Given the description of an element on the screen output the (x, y) to click on. 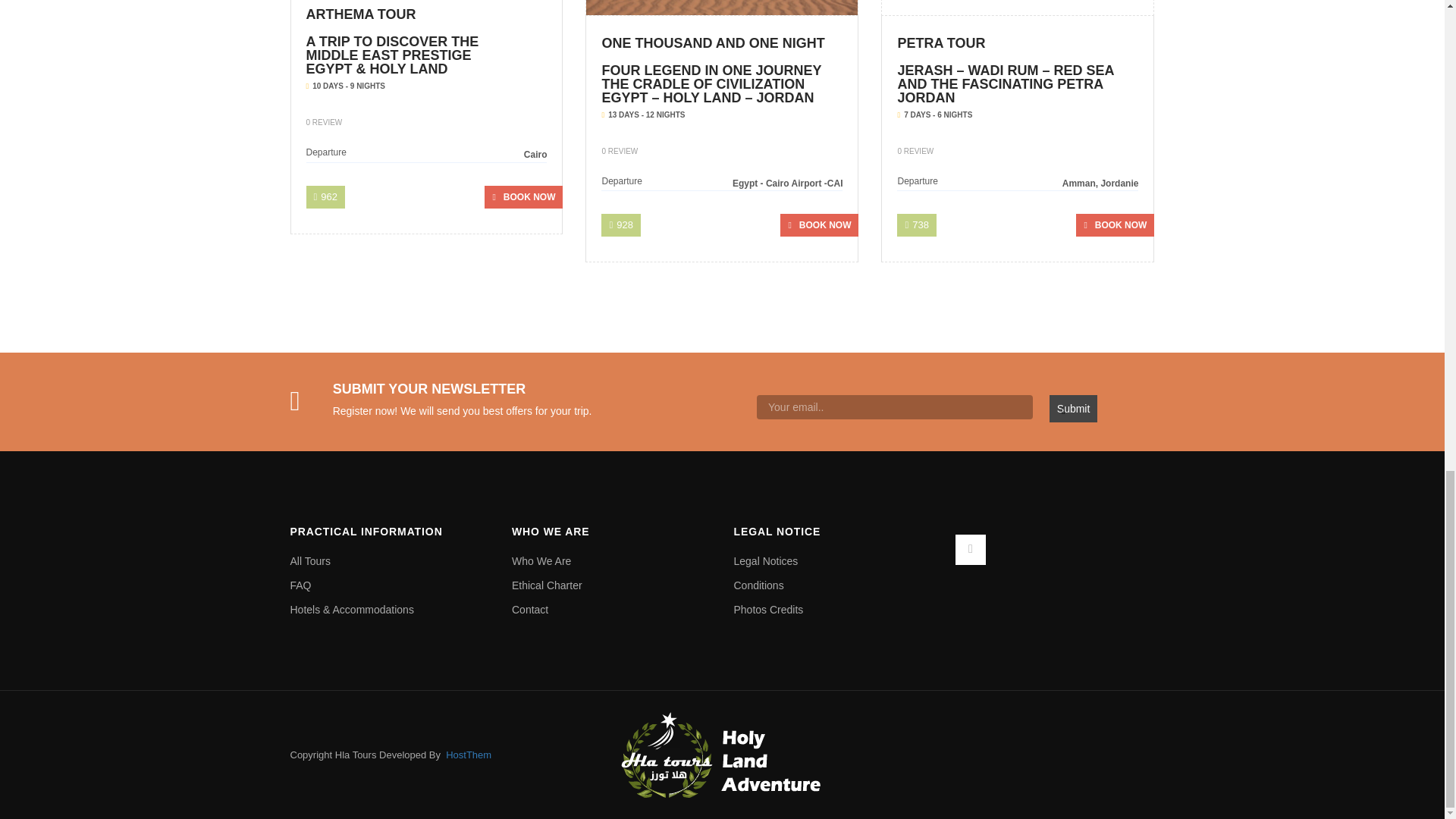
Ethical Charter (611, 585)
BOOK NOW (1114, 224)
FAQ (389, 585)
Who We Are (611, 560)
BOOK NOW (819, 224)
BOOK NOW (523, 196)
All Tours (389, 560)
Submit (1073, 408)
Submit (1073, 408)
Contact (611, 609)
